Given the description of an element on the screen output the (x, y) to click on. 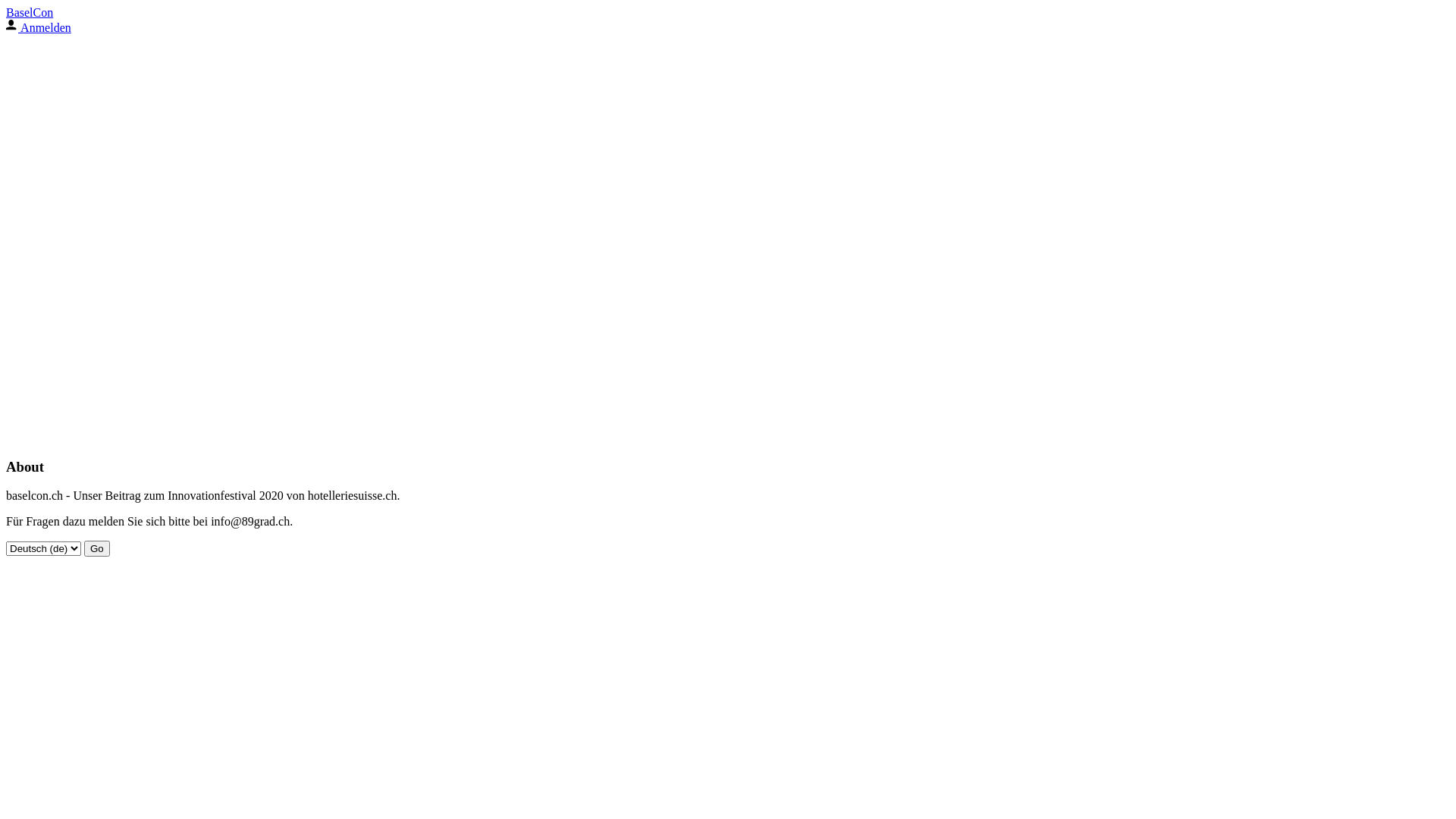
Anmelden Element type: text (38, 27)
Go Element type: text (96, 548)
BaselCon Element type: text (29, 12)
